Given the description of an element on the screen output the (x, y) to click on. 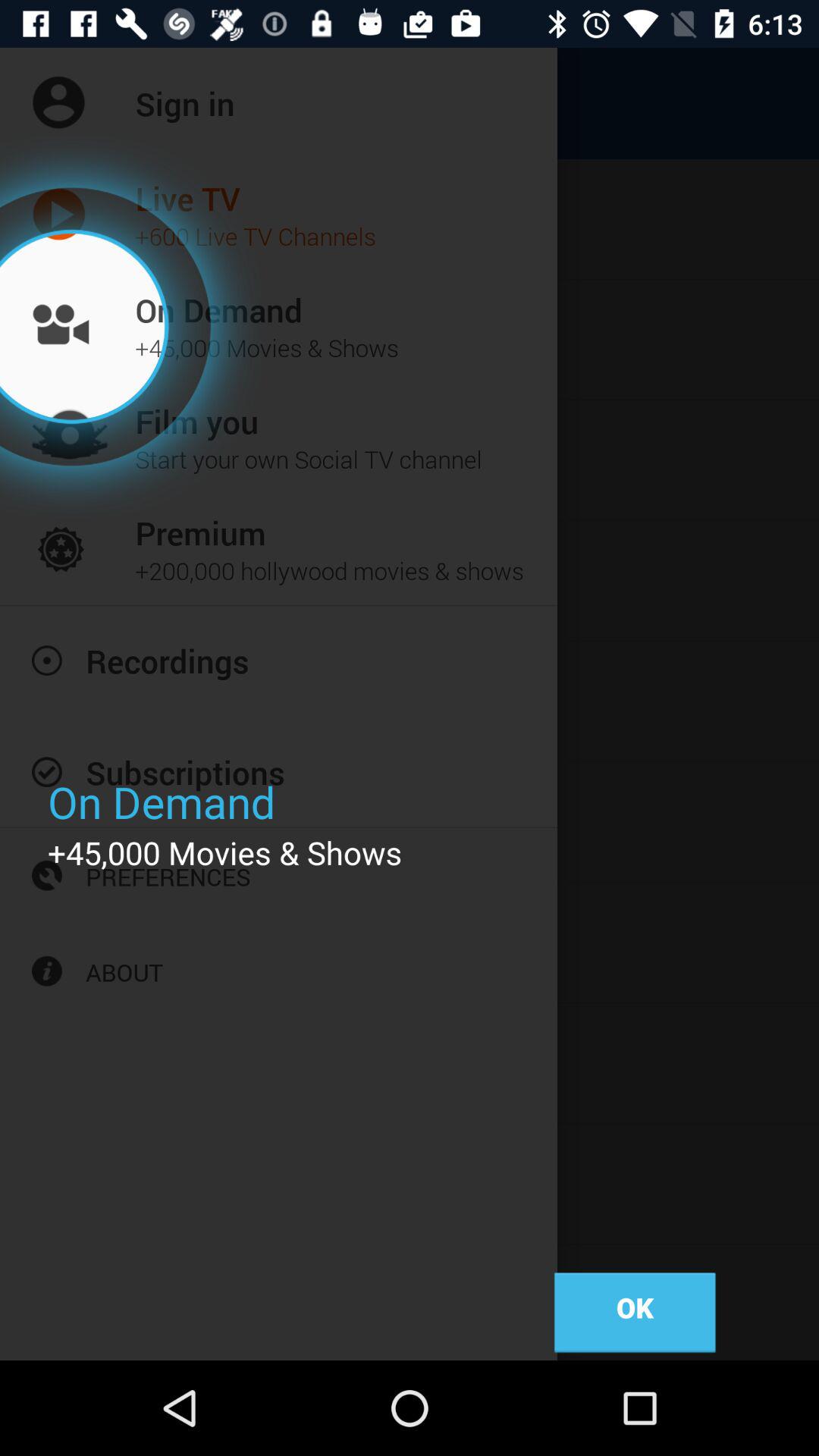
select icon beside recordings (46, 660)
select the icon of the premium (71, 549)
